Given the description of an element on the screen output the (x, y) to click on. 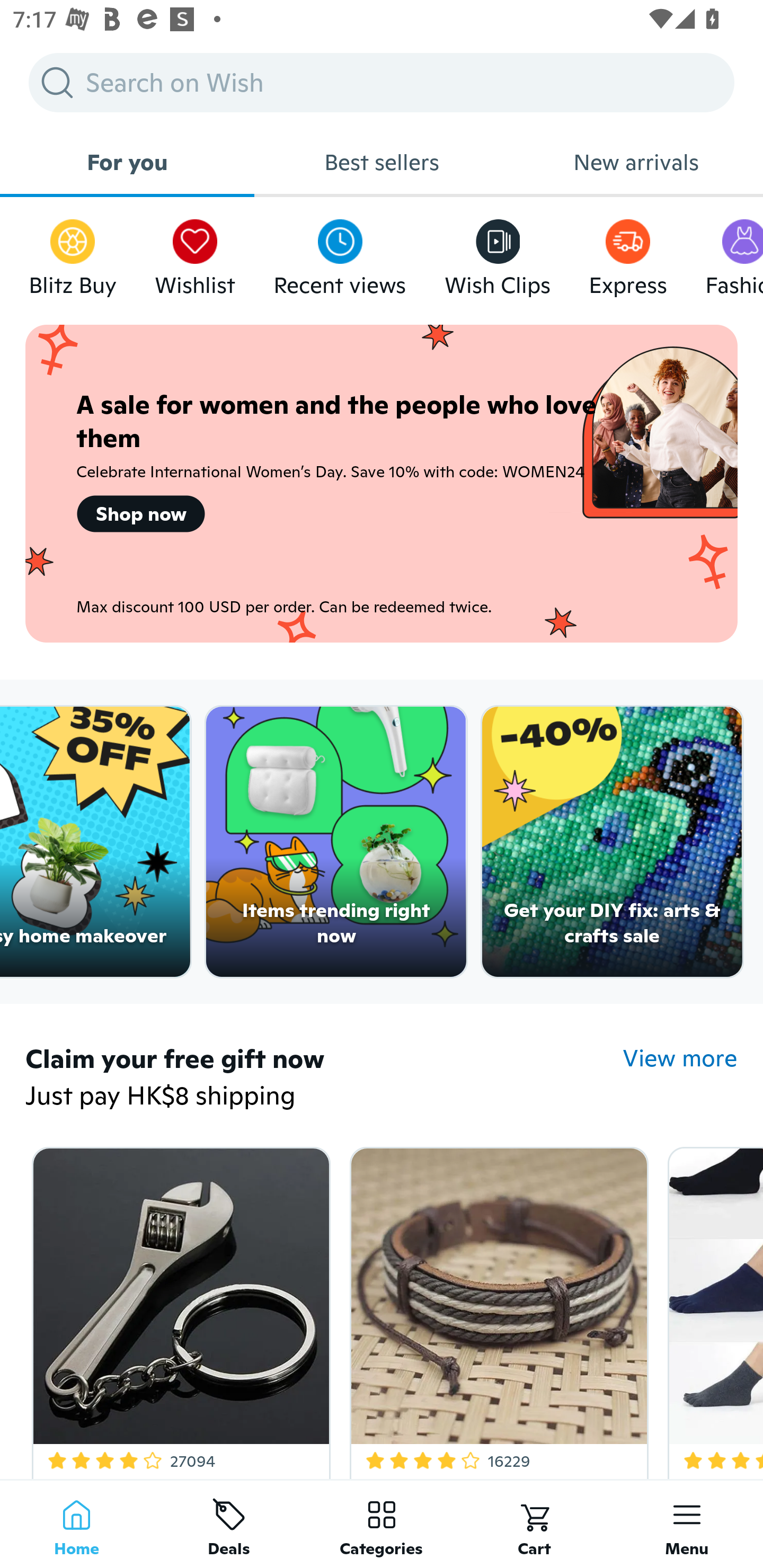
Search on Wish (381, 82)
For you (127, 161)
Best sellers (381, 161)
New arrivals (635, 161)
Blitz Buy (72, 252)
Wishlist (194, 252)
Recent views (339, 252)
Wish Clips (497, 252)
Express (627, 252)
Fashion (734, 252)
Messy home makeover (94, 841)
Items trending right now (336, 841)
Get your DIY fix: arts & crafts sale (612, 841)
Claim your free gift now
Just pay HK$8 shipping (323, 1078)
View more (679, 1058)
4 Star Rating 27094 Free (177, 1308)
3.8 Star Rating 16229 Free (495, 1308)
Home (76, 1523)
Deals (228, 1523)
Categories (381, 1523)
Cart (533, 1523)
Menu (686, 1523)
